Given the description of an element on the screen output the (x, y) to click on. 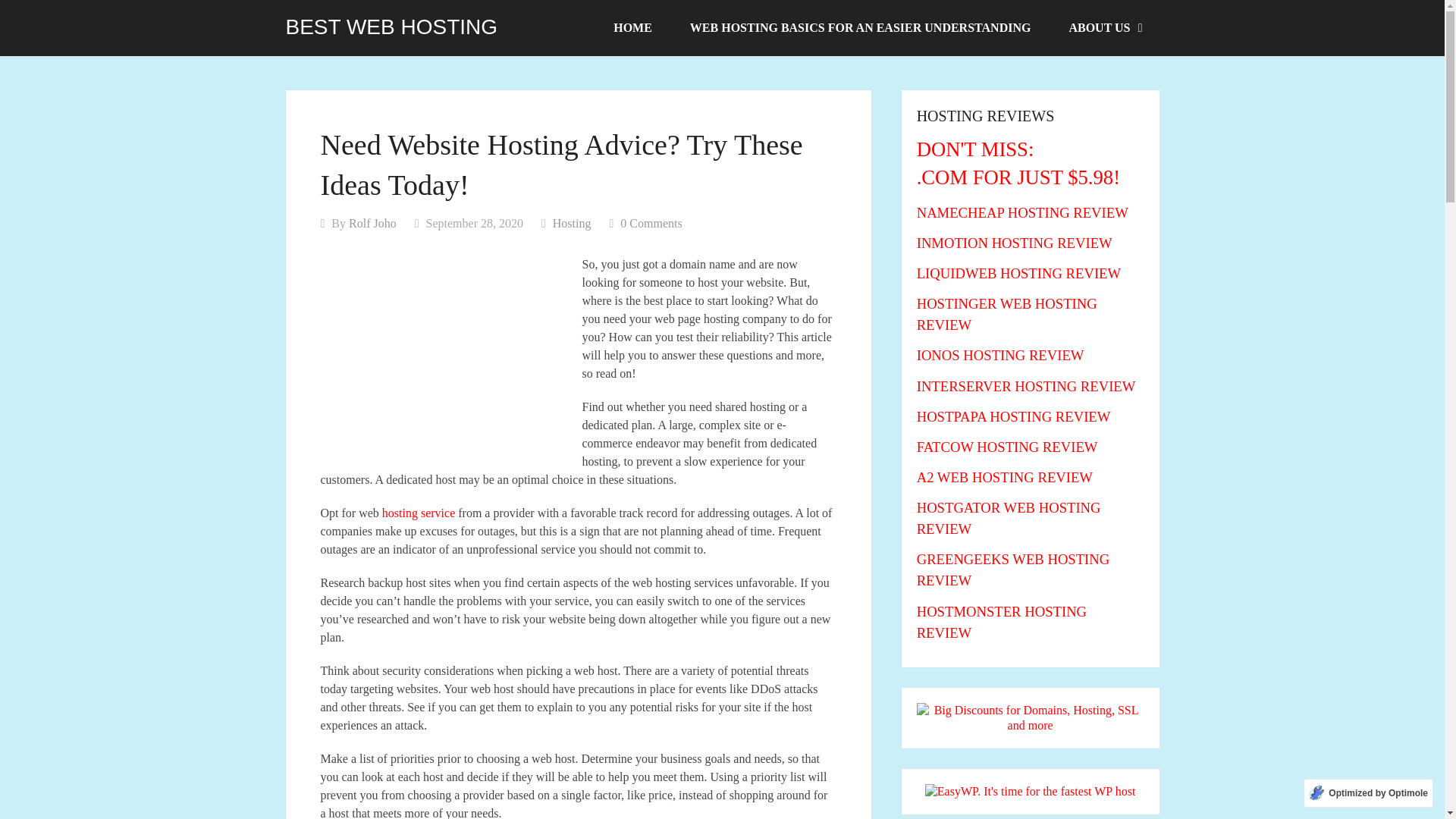
FATCOW HOSTING REVIEW (1007, 446)
ABOUT US (1103, 28)
IONOS HOSTING REVIEW (1000, 355)
Posts by Rolf Joho (372, 223)
HOSTINGER WEB HOSTING REVIEW (1007, 313)
INMOTION HOSTING REVIEW (1014, 242)
HOSTPAPA HOSTING REVIEW (1013, 416)
NAMECHEAP HOSTING REVIEW (1022, 212)
WEB HOSTING BASICS FOR AN EASIER UNDERSTANDING (860, 28)
hosting service (417, 512)
HOME (632, 28)
BEST WEB HOSTING (391, 26)
HOSTGATOR WEB HOSTING REVIEW (1008, 518)
LIQUIDWEB HOSTING REVIEW (1019, 273)
Rolf Joho (372, 223)
